Given the description of an element on the screen output the (x, y) to click on. 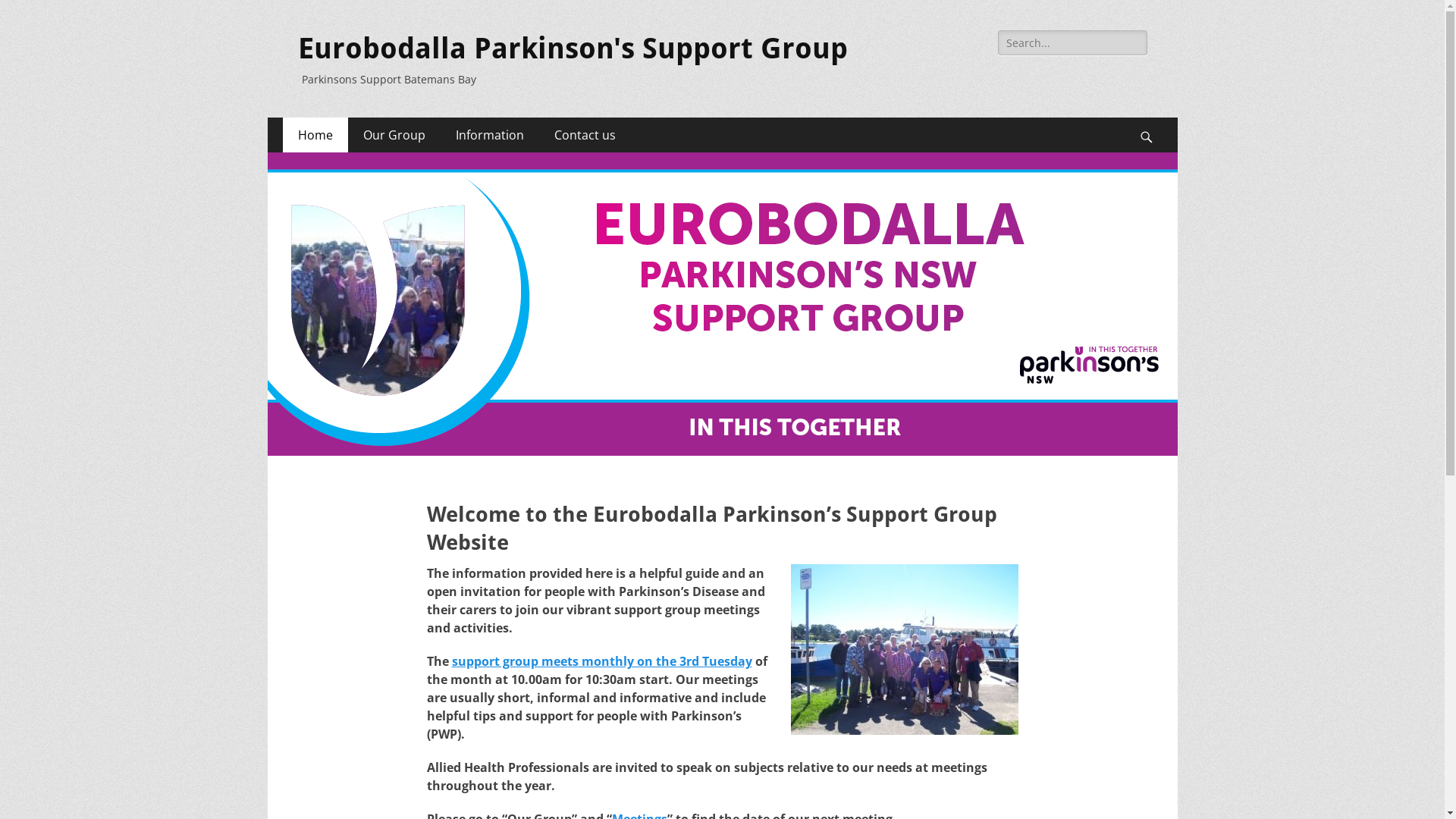
Contact us Element type: text (584, 134)
Search Element type: text (1154, 117)
Eurobodalla Parkinson's Support Group Element type: text (572, 48)
support group meets monthly on the 3rd Tuesday Element type: text (601, 660)
Information Element type: text (488, 134)
Home Element type: text (314, 134)
Our Group Element type: text (393, 134)
Search Element type: text (34, 13)
Search for: Element type: hover (1072, 42)
